Given the description of an element on the screen output the (x, y) to click on. 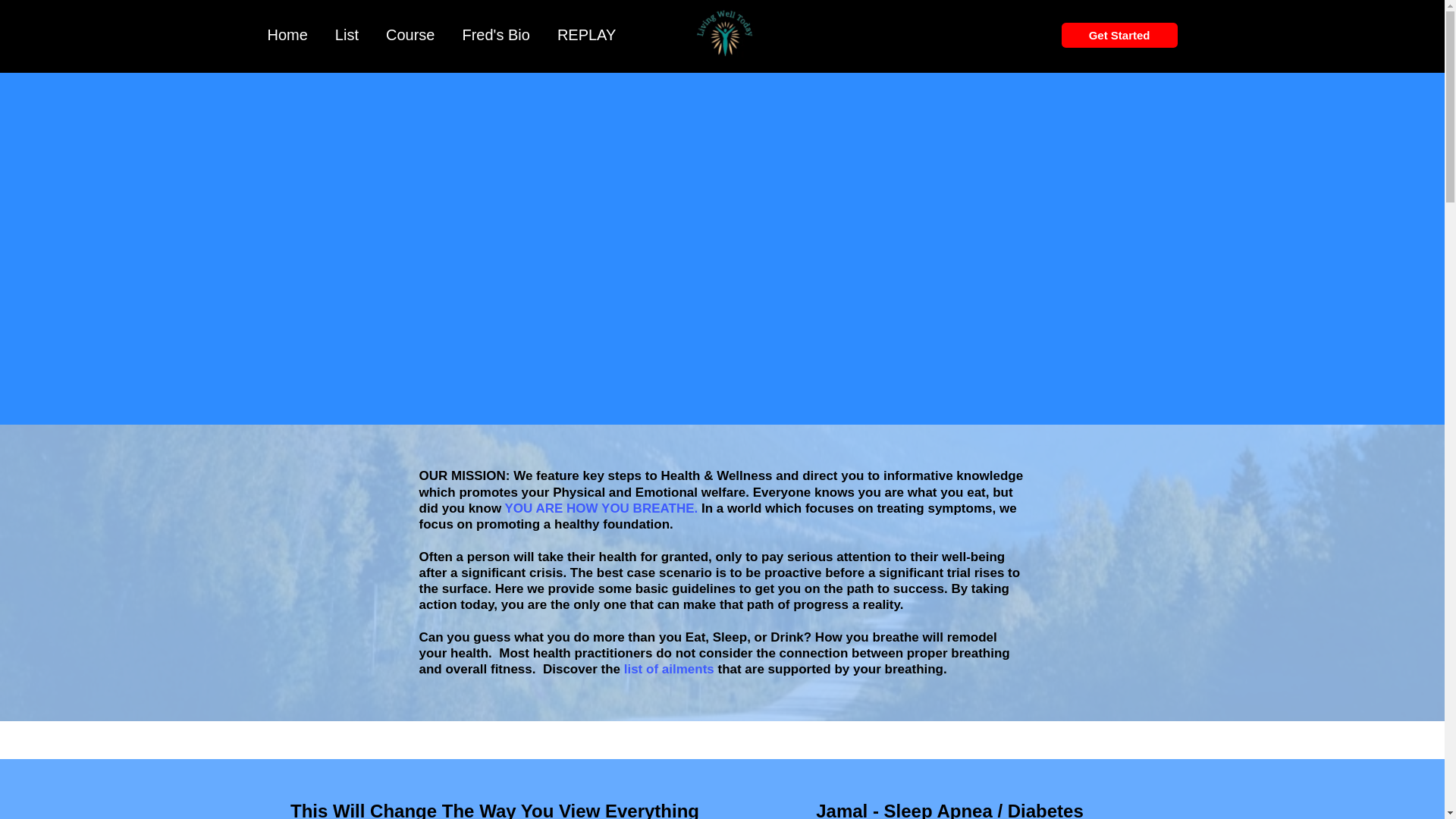
Get Started Element type: text (1119, 34)
Fred's Bio Element type: text (495, 34)
Course Element type: text (409, 34)
YOU ARE HOW YOU BREATHE. Element type: text (601, 508)
Home Element type: text (286, 34)
list of ailments  Element type: text (671, 669)
  Element type: text (622, 669)
List Element type: text (346, 34)
REPLAY Element type: text (586, 34)
